Given the description of an element on the screen output the (x, y) to click on. 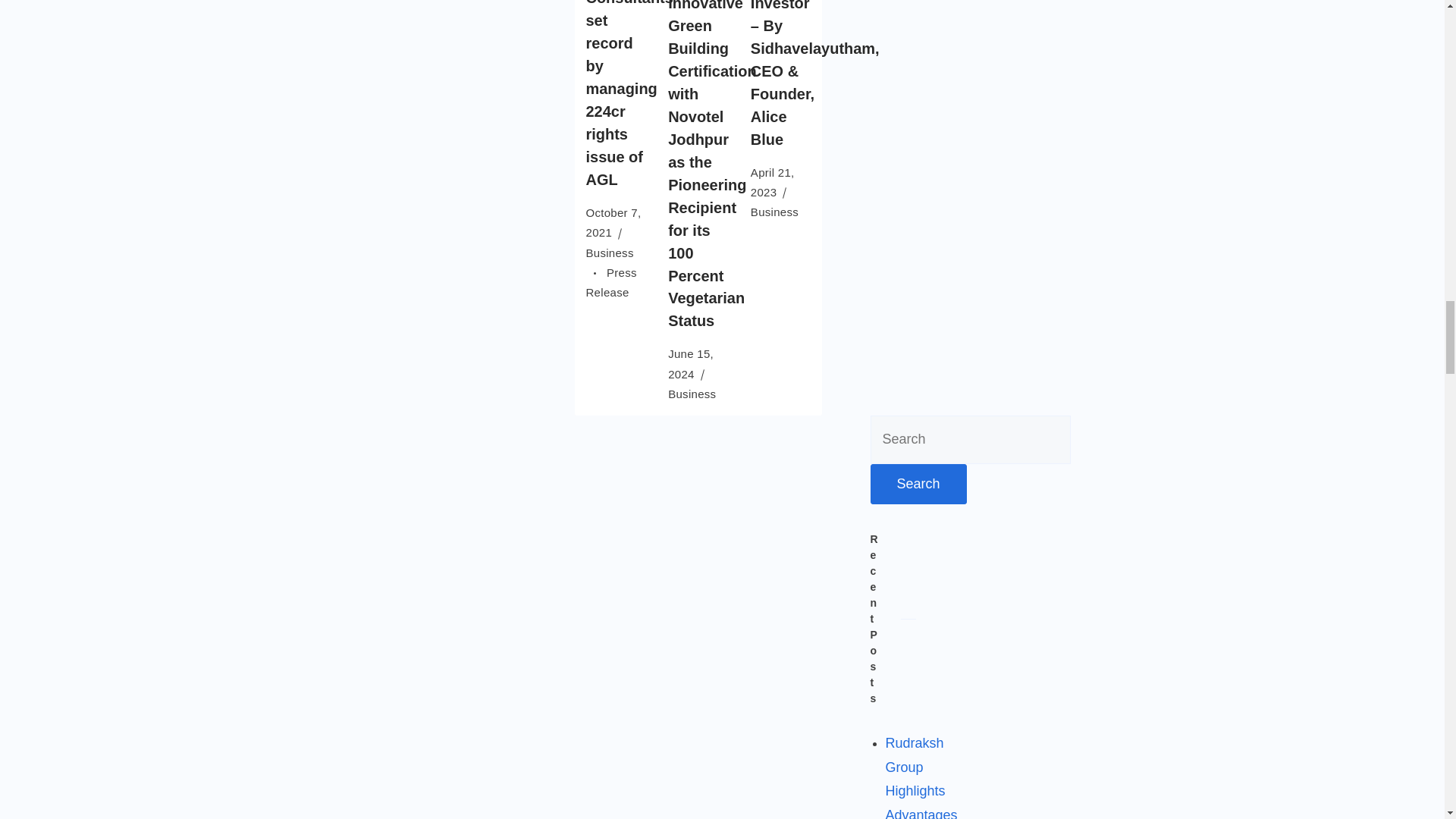
Search (918, 484)
Search (918, 484)
Business (609, 262)
Search Input (970, 439)
Press Release (610, 282)
